Given the description of an element on the screen output the (x, y) to click on. 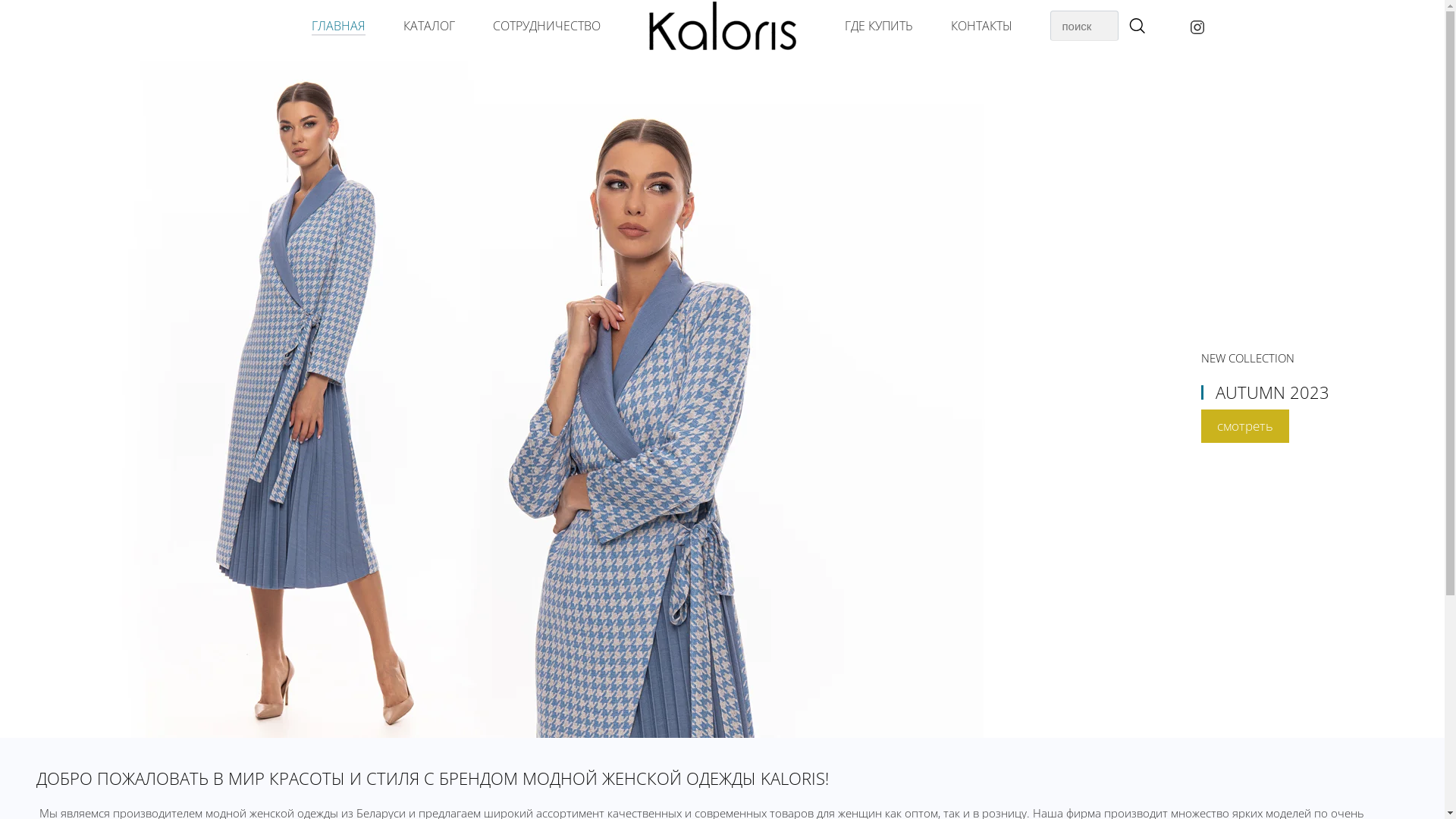
+ Element type: text (1135, 27)
